Given the description of an element on the screen output the (x, y) to click on. 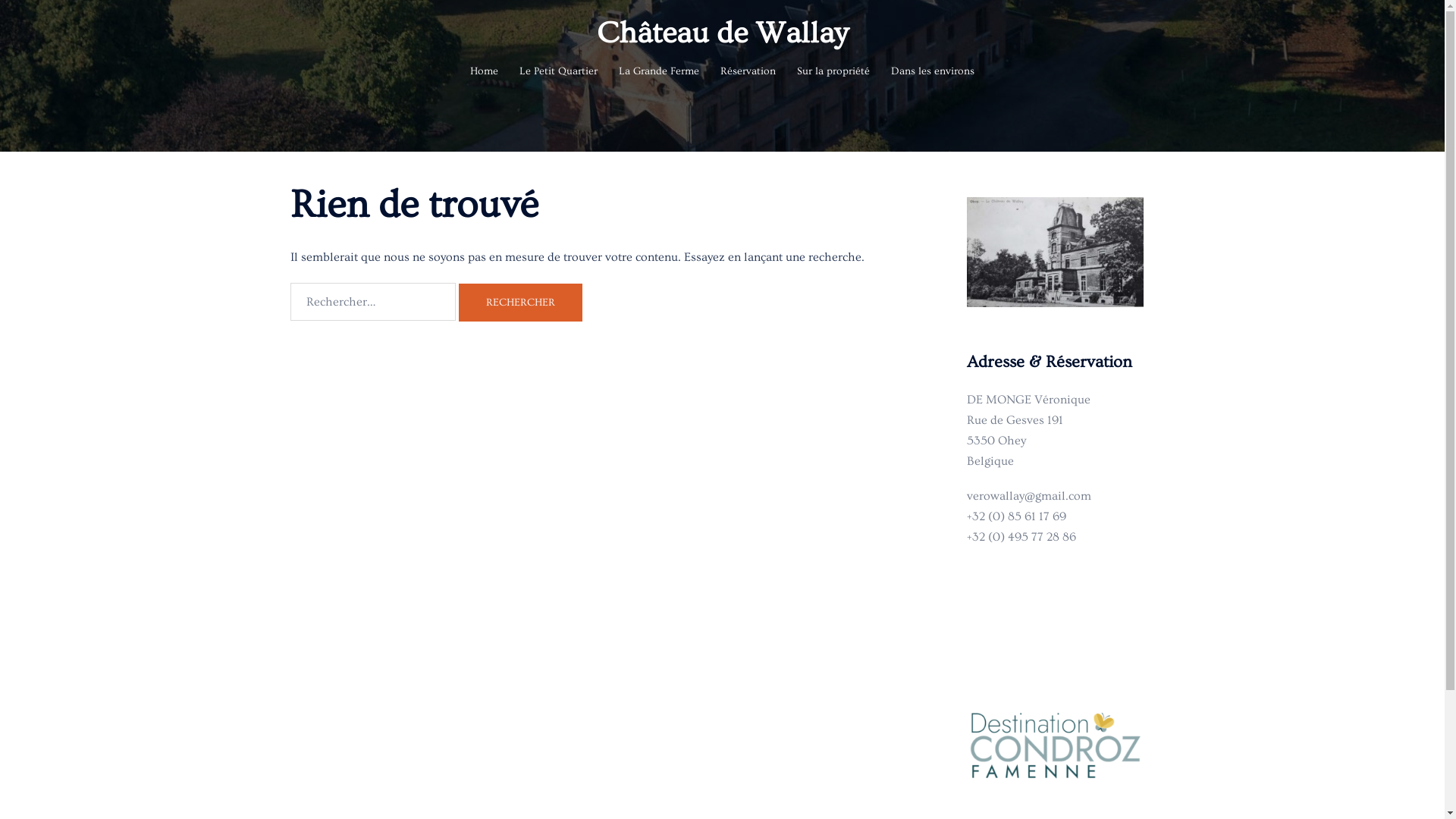
La Grande Ferme Element type: text (658, 71)
Home Element type: text (484, 71)
Dans les environs Element type: text (932, 71)
verowallay@gmail.com Element type: text (1028, 495)
Le Petit Quartier Element type: text (558, 71)
Rechercher Element type: text (519, 302)
